Given the description of an element on the screen output the (x, y) to click on. 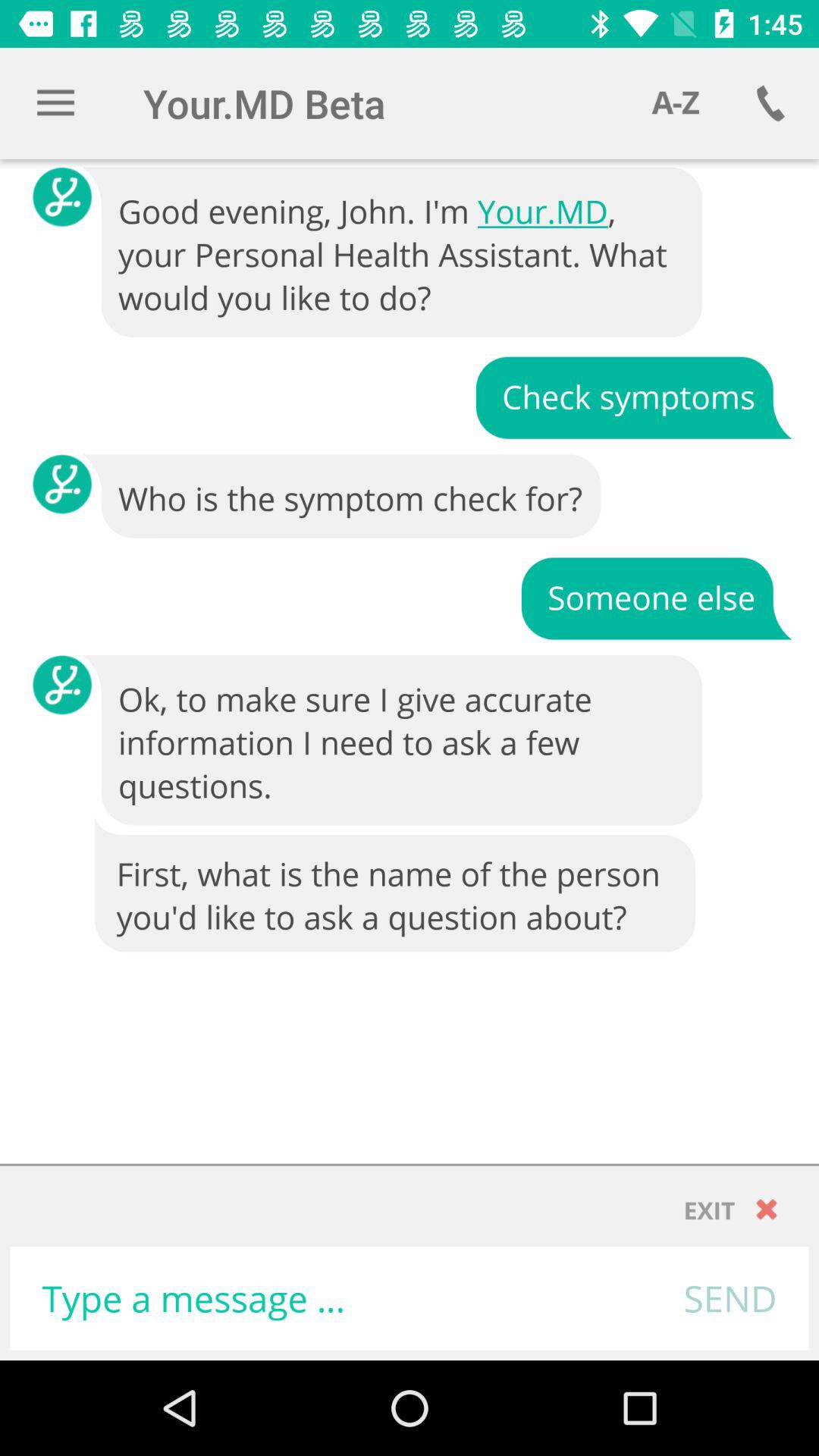
open icon next to your.md beta item (675, 103)
